Given the description of an element on the screen output the (x, y) to click on. 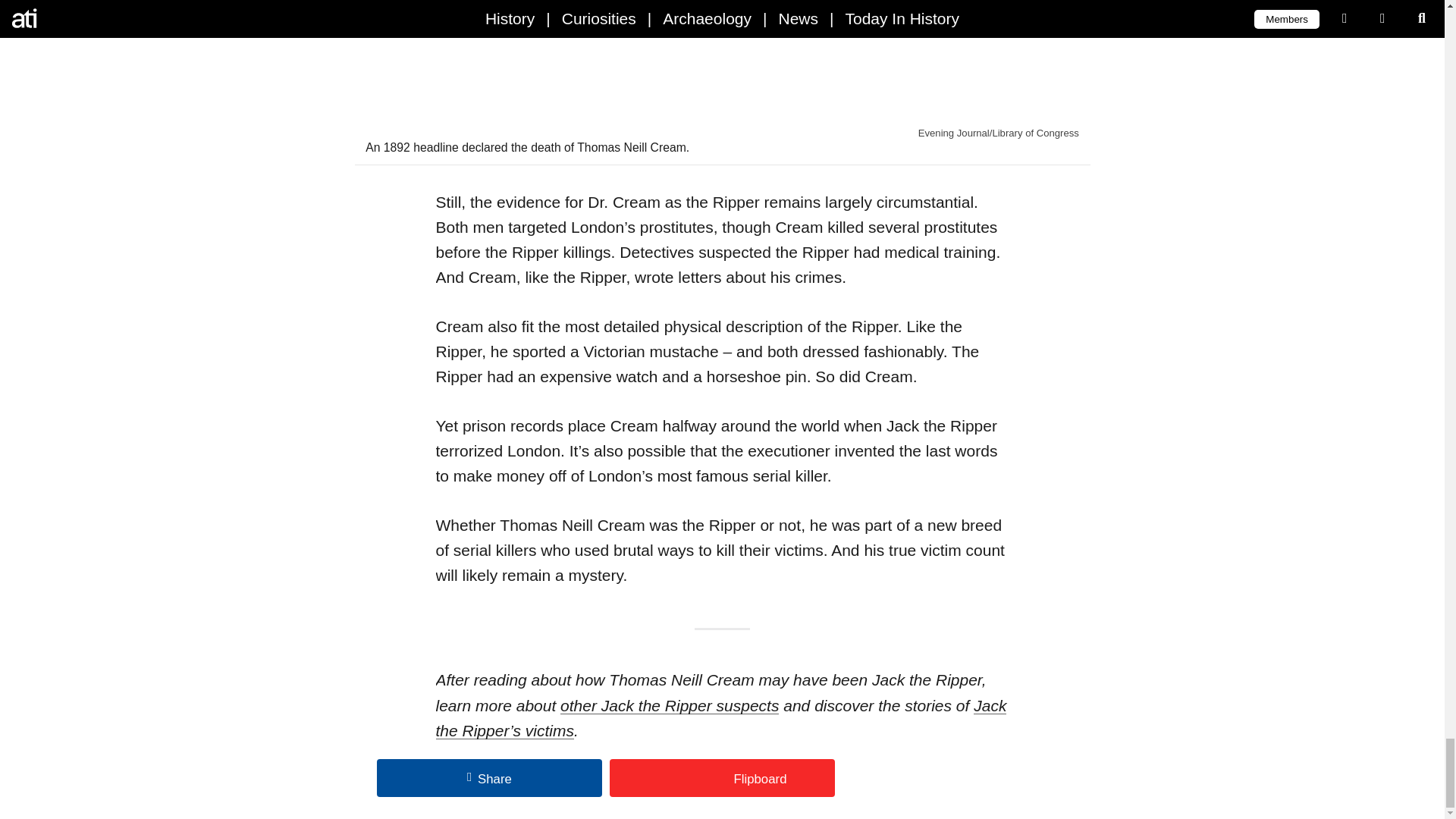
Flipboard (722, 777)
other Jack the Ripper suspects (669, 705)
Share (489, 777)
